Given the description of an element on the screen output the (x, y) to click on. 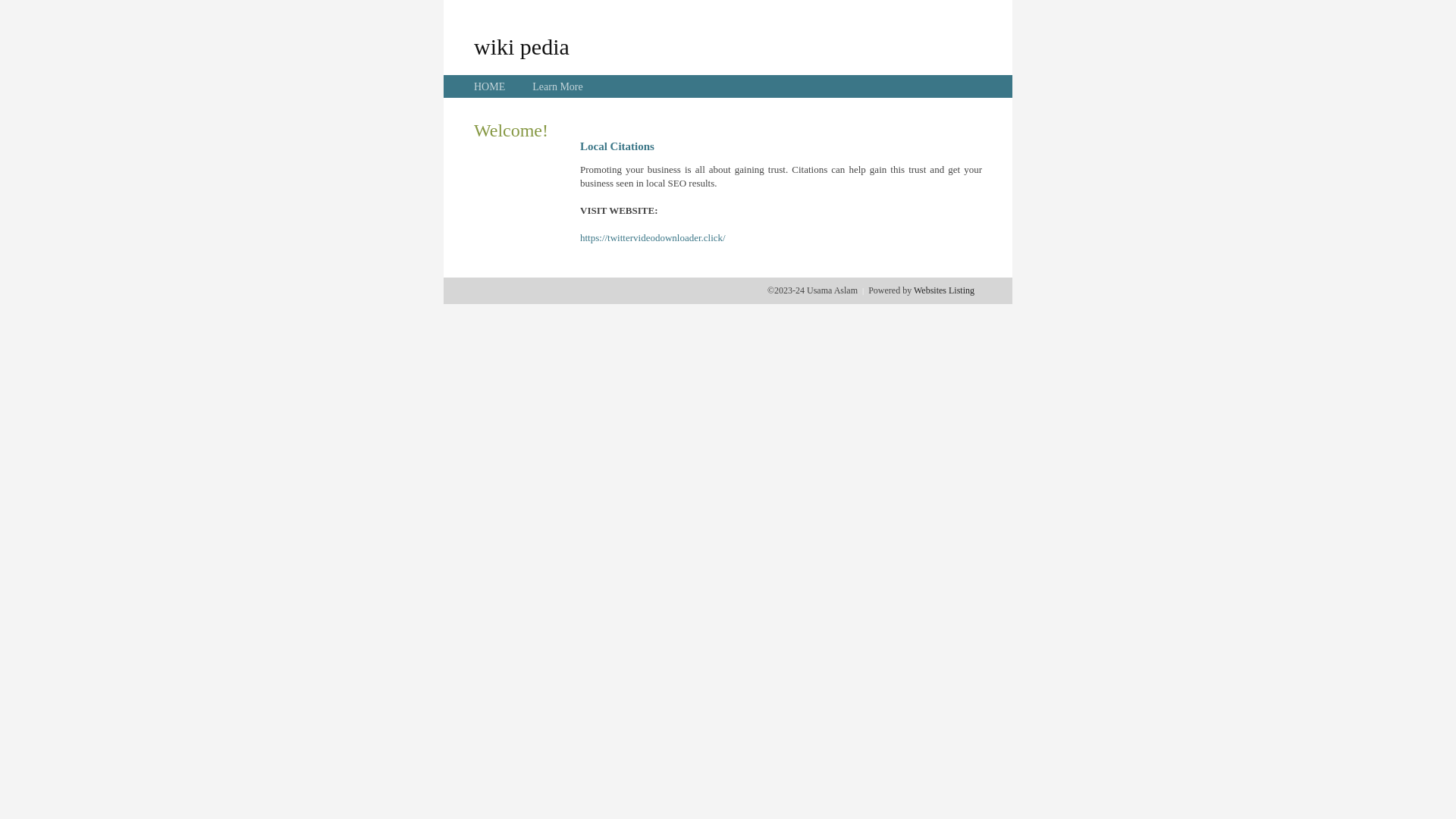
https://twittervideodownloader.click/ Element type: text (652, 237)
Learn More Element type: text (557, 86)
wiki pedia Element type: text (521, 46)
Websites Listing Element type: text (943, 290)
HOME Element type: text (489, 86)
